Given the description of an element on the screen output the (x, y) to click on. 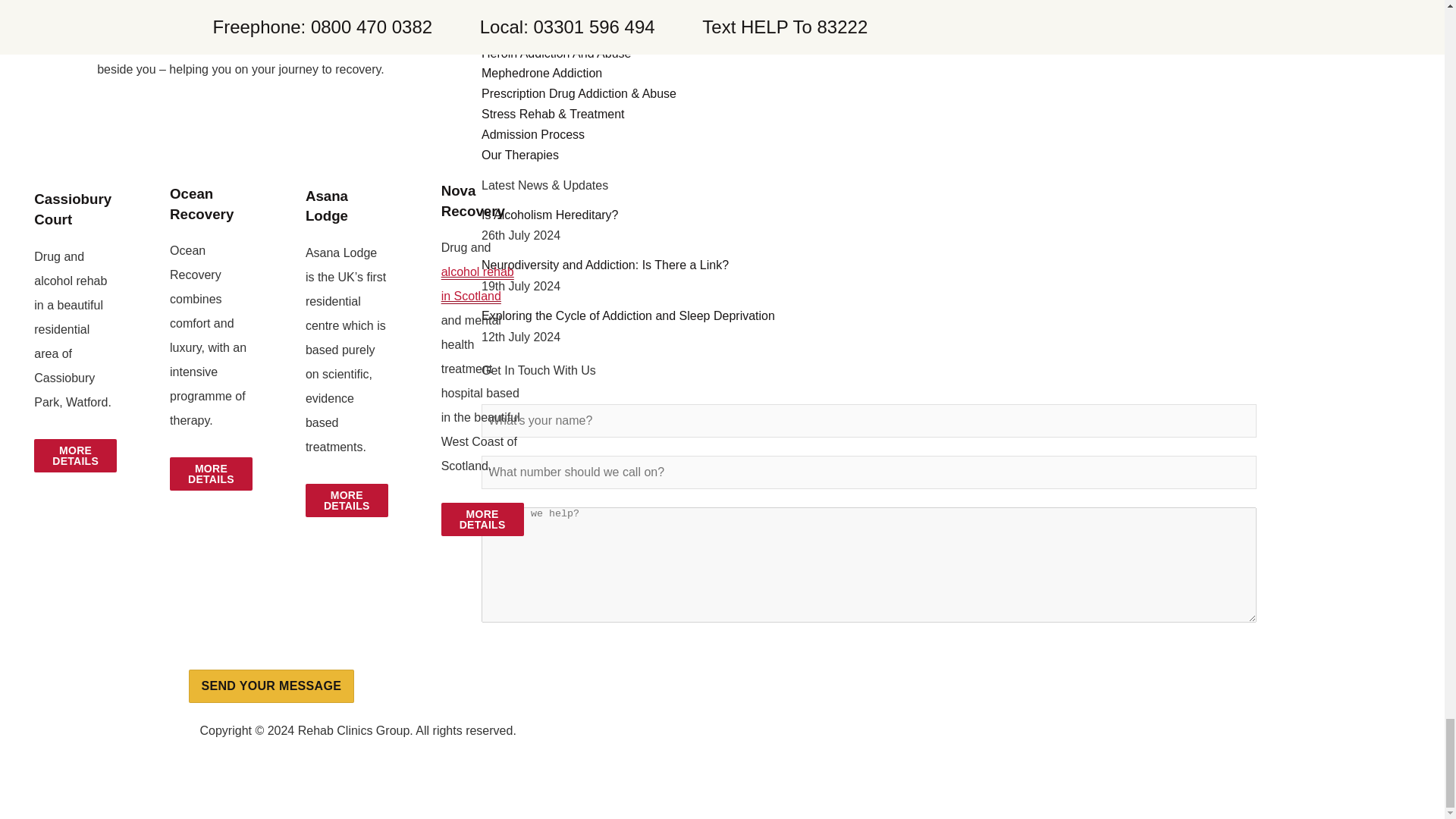
Nova Recovery (473, 200)
View Centre Details (482, 519)
View Centre Details (346, 500)
View Centre Details (210, 473)
Cassiobury Court (72, 208)
View Centre Details (74, 455)
Send Your Message (270, 685)
Asana Lodge (326, 206)
Ocean Recovery (201, 203)
